Given the description of an element on the screen output the (x, y) to click on. 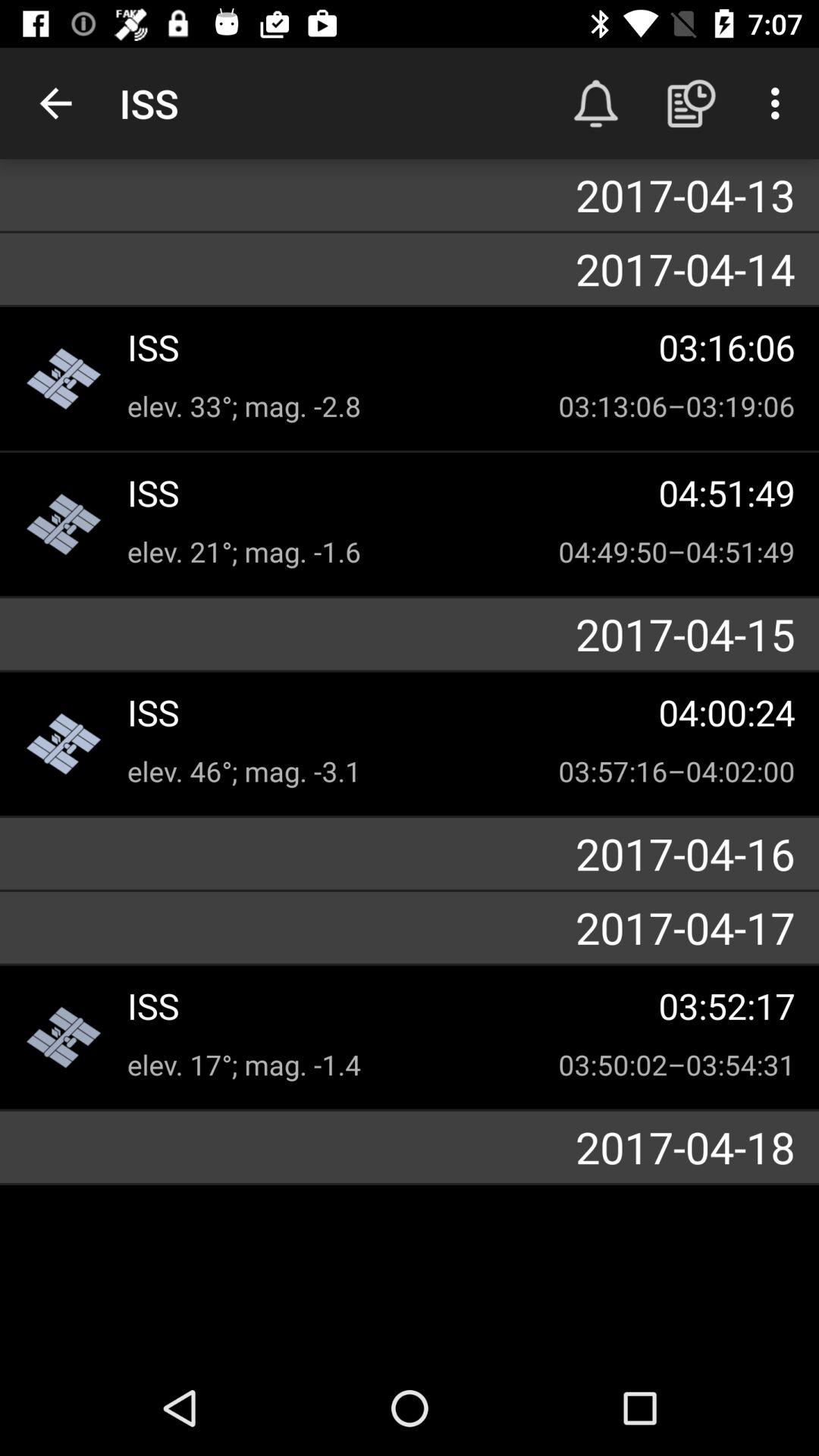
click icon above 2017-04-13 item (779, 103)
